Given the description of an element on the screen output the (x, y) to click on. 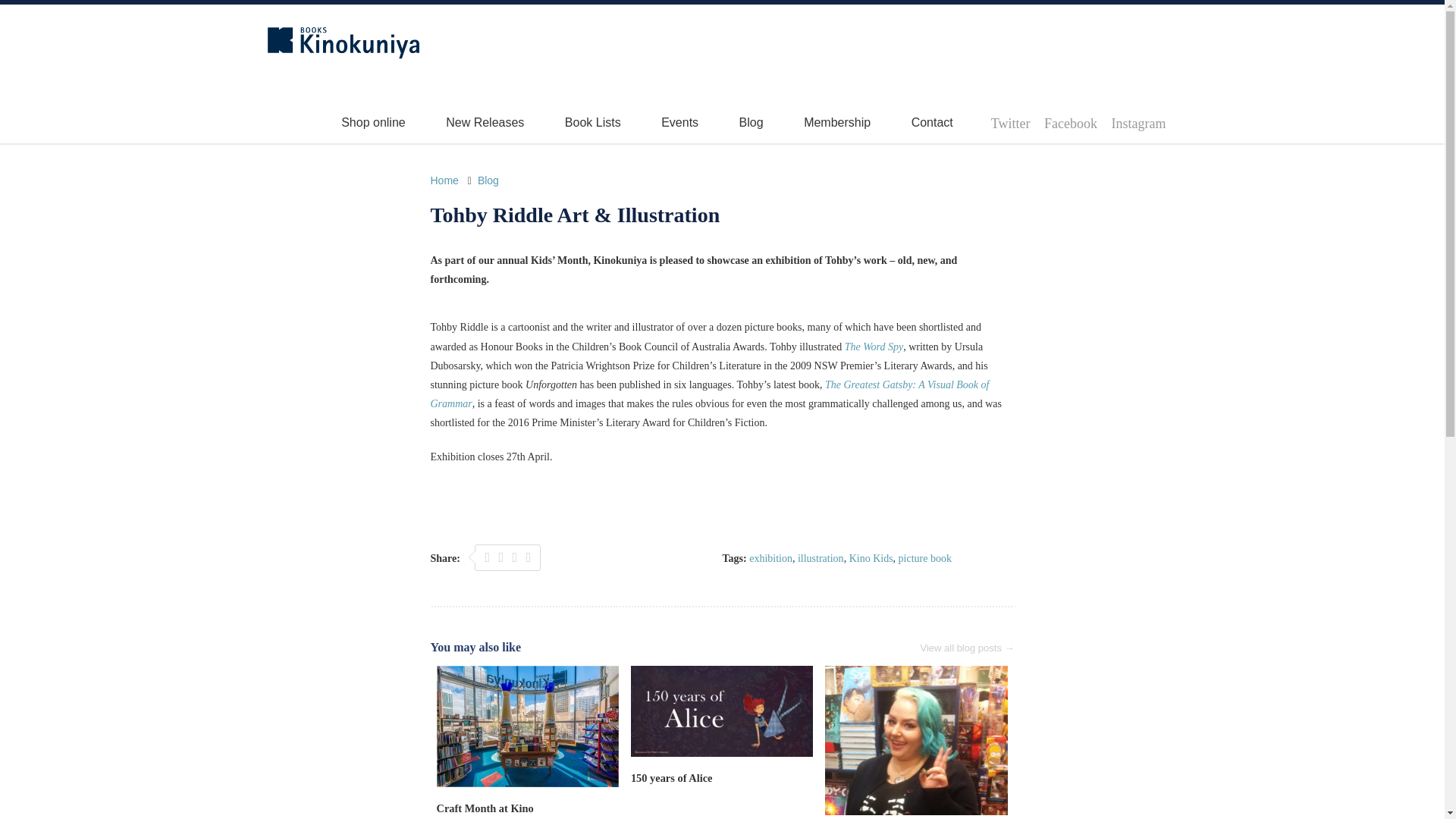
Craft Month at Kino (485, 808)
Shop online (373, 122)
Blog (750, 122)
picture book (925, 558)
Contact (932, 122)
illustration (820, 558)
Kino Kids (870, 558)
The Greatest Gatsby: A Visual Book of Grammar (710, 394)
Book Lists (592, 122)
Instagram (1139, 123)
Events (679, 122)
Home (444, 180)
Craft Month at Kino (485, 808)
150 years of Alice (671, 777)
Twitter (1010, 123)
